Given the description of an element on the screen output the (x, y) to click on. 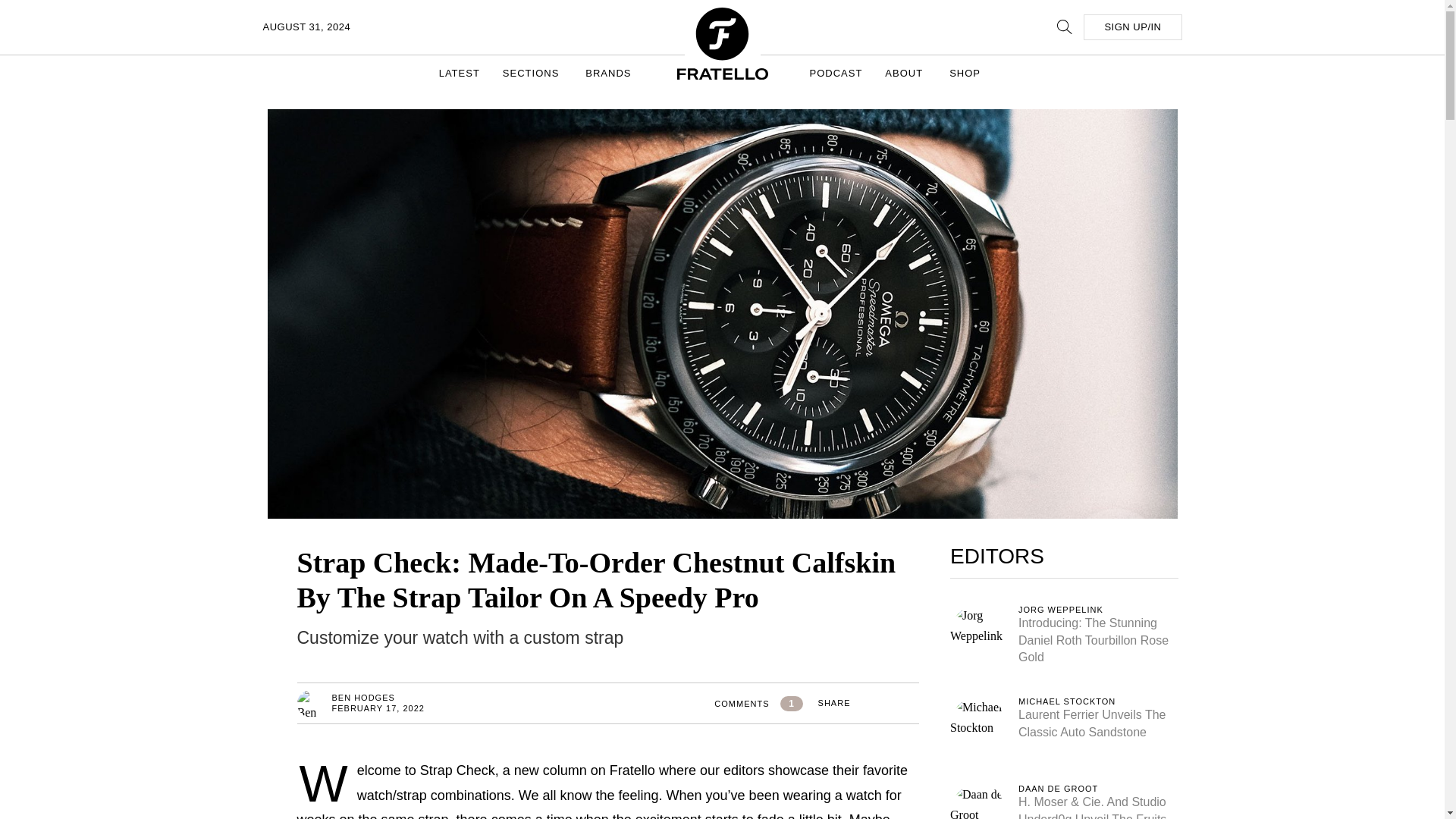
BRANDS (609, 72)
SECTIONS (532, 72)
LATEST (460, 72)
